Given the description of an element on the screen output the (x, y) to click on. 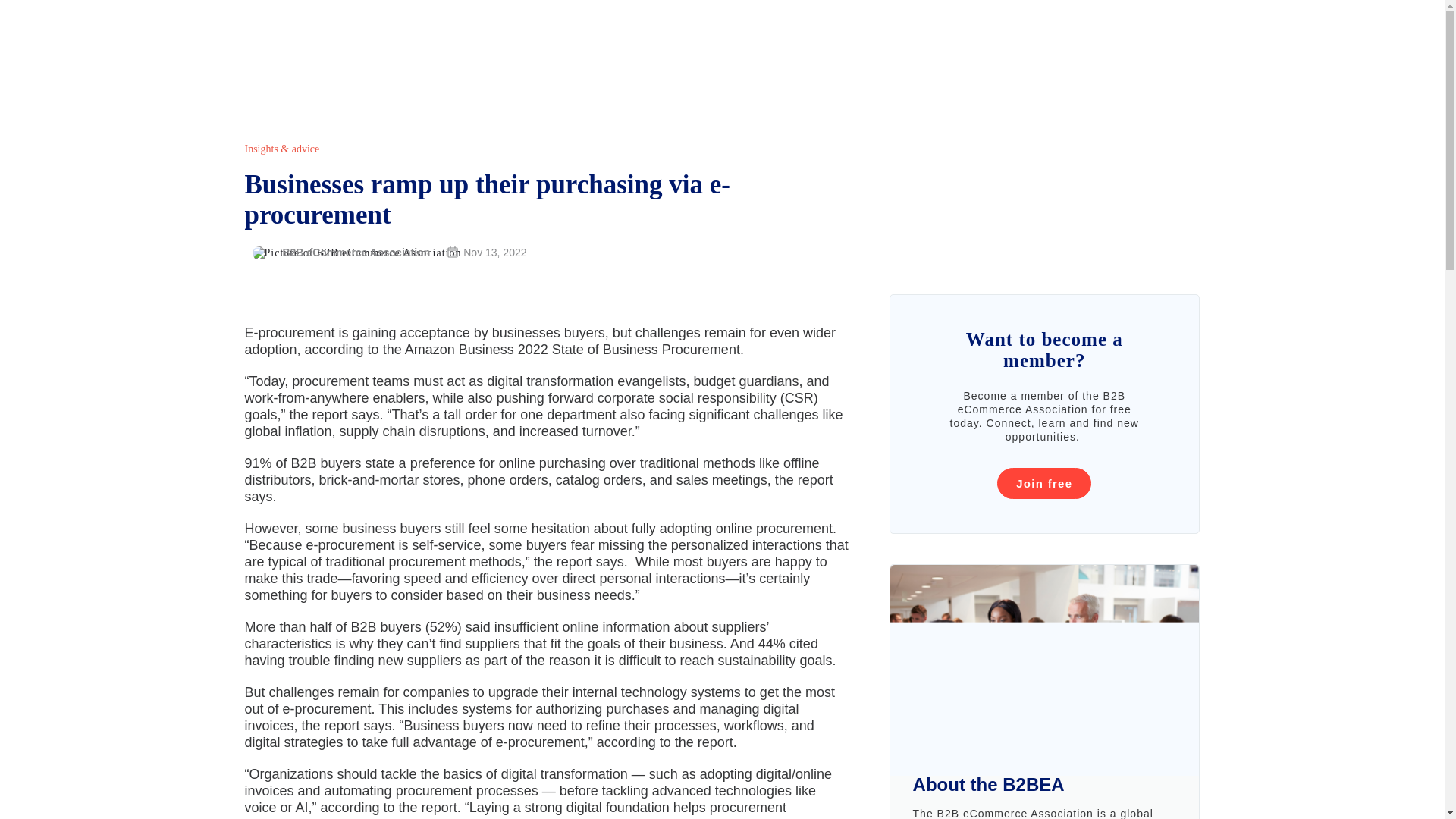
Join free (1043, 482)
